Given the description of an element on the screen output the (x, y) to click on. 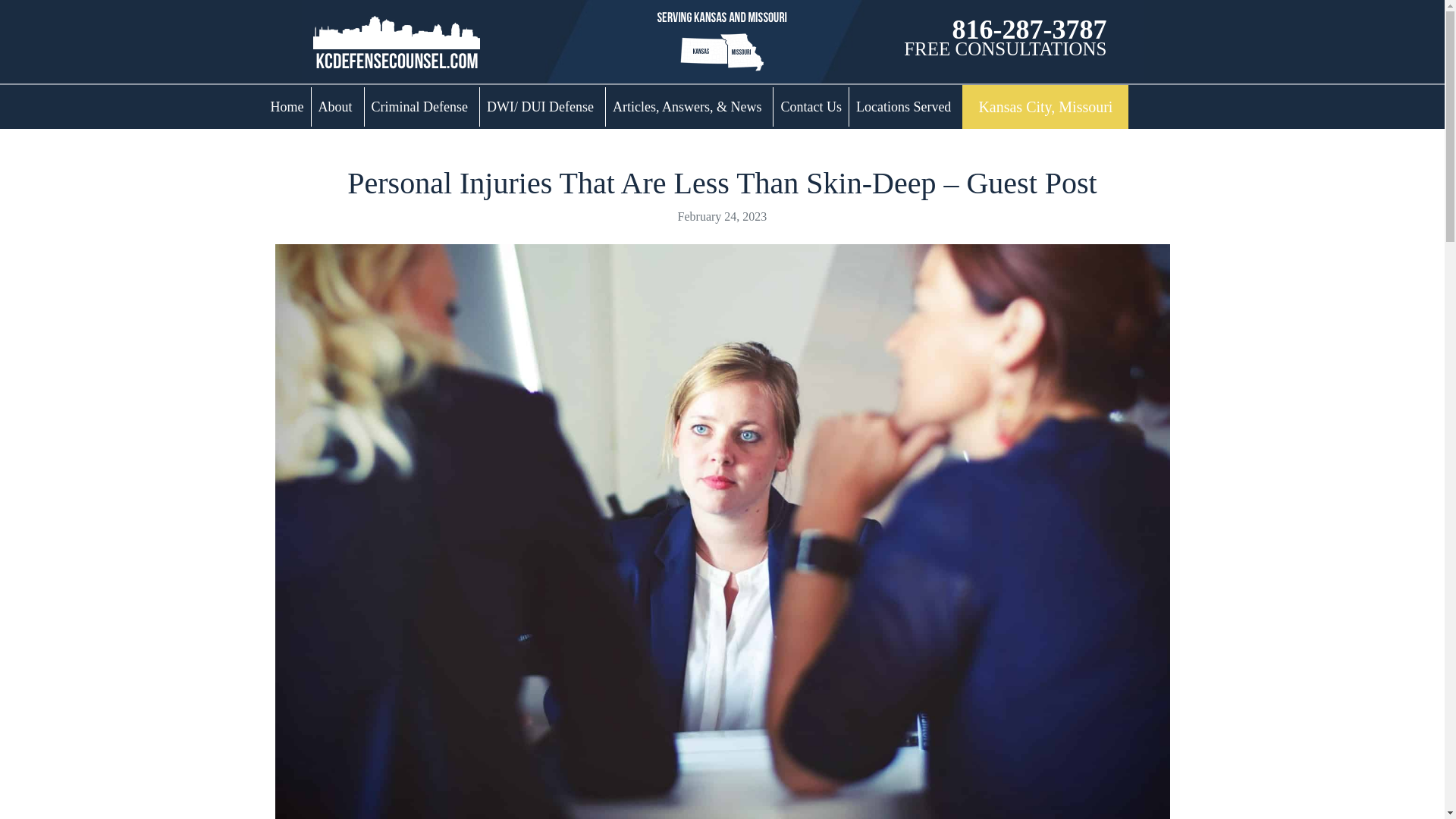
816-287-3787 (1029, 29)
Home (287, 106)
Location Served (905, 106)
Contact Us (1029, 29)
KC Defense Counsel Law Firm (396, 40)
Submit (1045, 106)
About (336, 106)
Blog (689, 106)
Contact Us (810, 106)
KC Defense Counsel Law Firm (396, 41)
Criminal Defense (421, 106)
About (336, 106)
Home (287, 106)
